Given the description of an element on the screen output the (x, y) to click on. 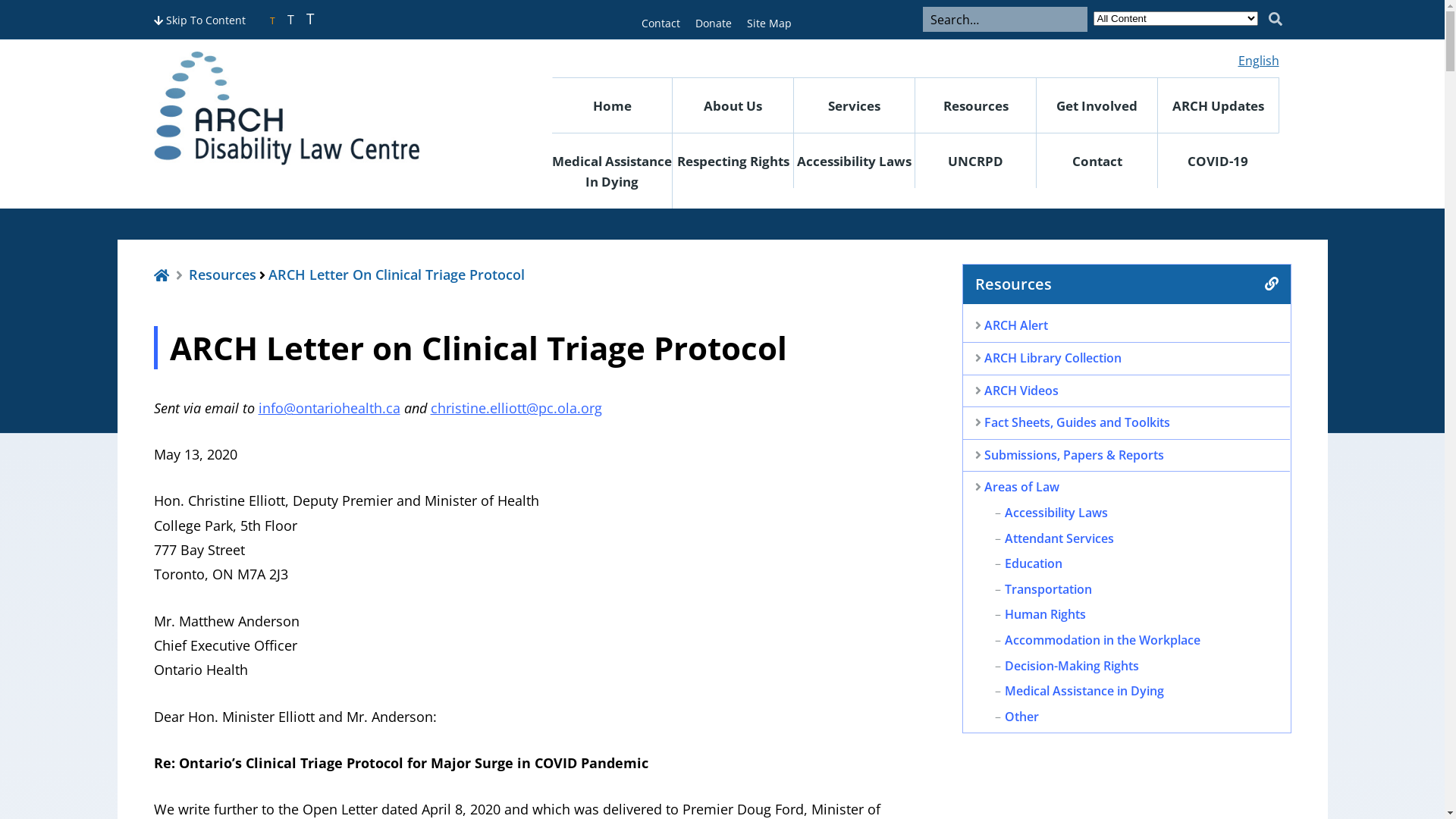
Education Element type: text (1033, 563)
Transportation Element type: text (1048, 588)
info@ontariohealth.ca Element type: text (328, 407)
Donate Element type: text (712, 22)
Medical Assistance In Dying Element type: text (612, 170)
ARCH Updates Element type: text (1218, 104)
About Us Element type: text (732, 104)
Submissions, Papers & Reports Element type: text (1074, 454)
ARCH Alert Element type: text (1016, 324)
ARCH Disability Law Centre Element type: hover (323, 108)
T Element type: text (309, 18)
Skip To Content Element type: text (198, 19)
Medical Assistance in Dying Element type: text (1084, 690)
Accessibility Laws Element type: text (1055, 512)
Human Rights Element type: text (1044, 613)
Fact Sheets, Guides and Toolkits Element type: text (1077, 422)
T Element type: text (290, 20)
Home Element type: text (612, 104)
Decision-Making Rights Element type: text (1071, 665)
English Element type: text (1256, 60)
Home Element type: hover (160, 274)
UNCRPD Element type: text (975, 160)
COVID-19 Element type: text (1218, 160)
Site Map Element type: text (768, 22)
Attendant Services Element type: text (1058, 538)
christine.elliott@pc.ola.org Element type: text (516, 407)
Accessibility Laws Element type: text (854, 160)
Resources Element type: text (222, 274)
Contact Element type: text (1096, 160)
Get Involved Element type: text (1096, 104)
Contact Element type: text (660, 22)
T Element type: text (272, 20)
ARCH Letter On Clinical Triage Protocol Element type: text (396, 274)
Areas of Law Element type: text (1021, 486)
ARCH Library Collection Element type: text (1052, 357)
Other Element type: text (1021, 716)
Services Element type: text (854, 104)
Respecting Rights Element type: text (732, 160)
Search Element type: text (1274, 19)
ARCH Videos Element type: text (1021, 390)
Resources Element type: text (975, 104)
Accommodation in the Workplace Element type: text (1102, 639)
